Given the description of an element on the screen output the (x, y) to click on. 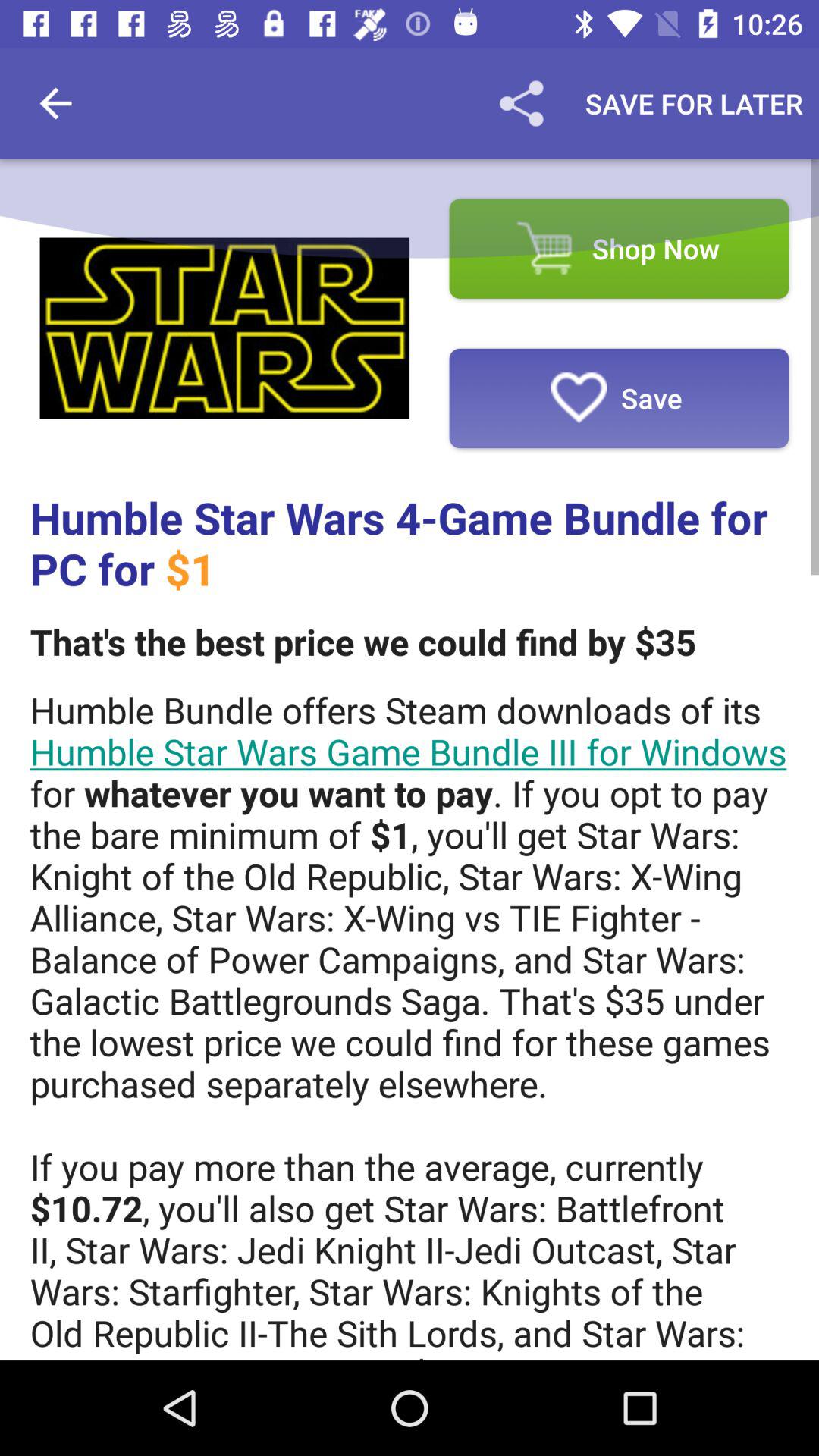
choose item below the humble star wars icon (363, 641)
